Given the description of an element on the screen output the (x, y) to click on. 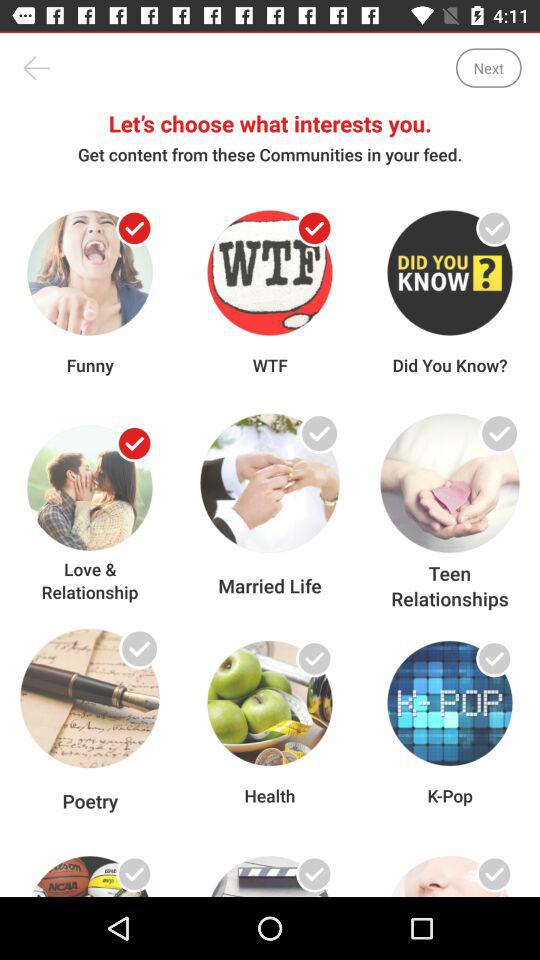
include content about married life (314, 443)
